Given the description of an element on the screen output the (x, y) to click on. 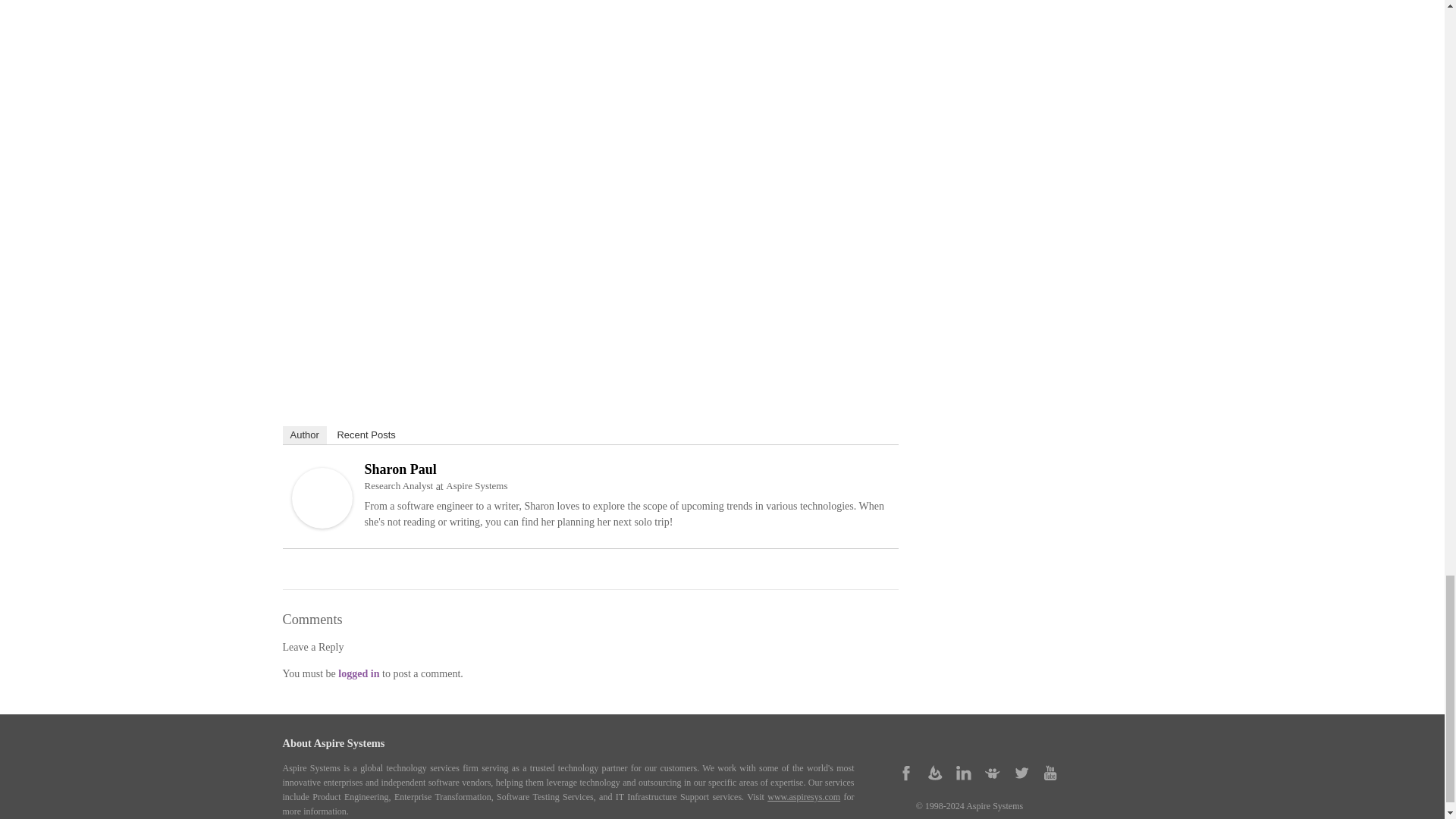
Twitter (1021, 772)
YouTube (1050, 772)
LinkedIn (963, 772)
SlideShare (991, 772)
Sharon Paul (321, 524)
Facebook (905, 772)
FeedBurner (935, 772)
